Given the description of an element on the screen output the (x, y) to click on. 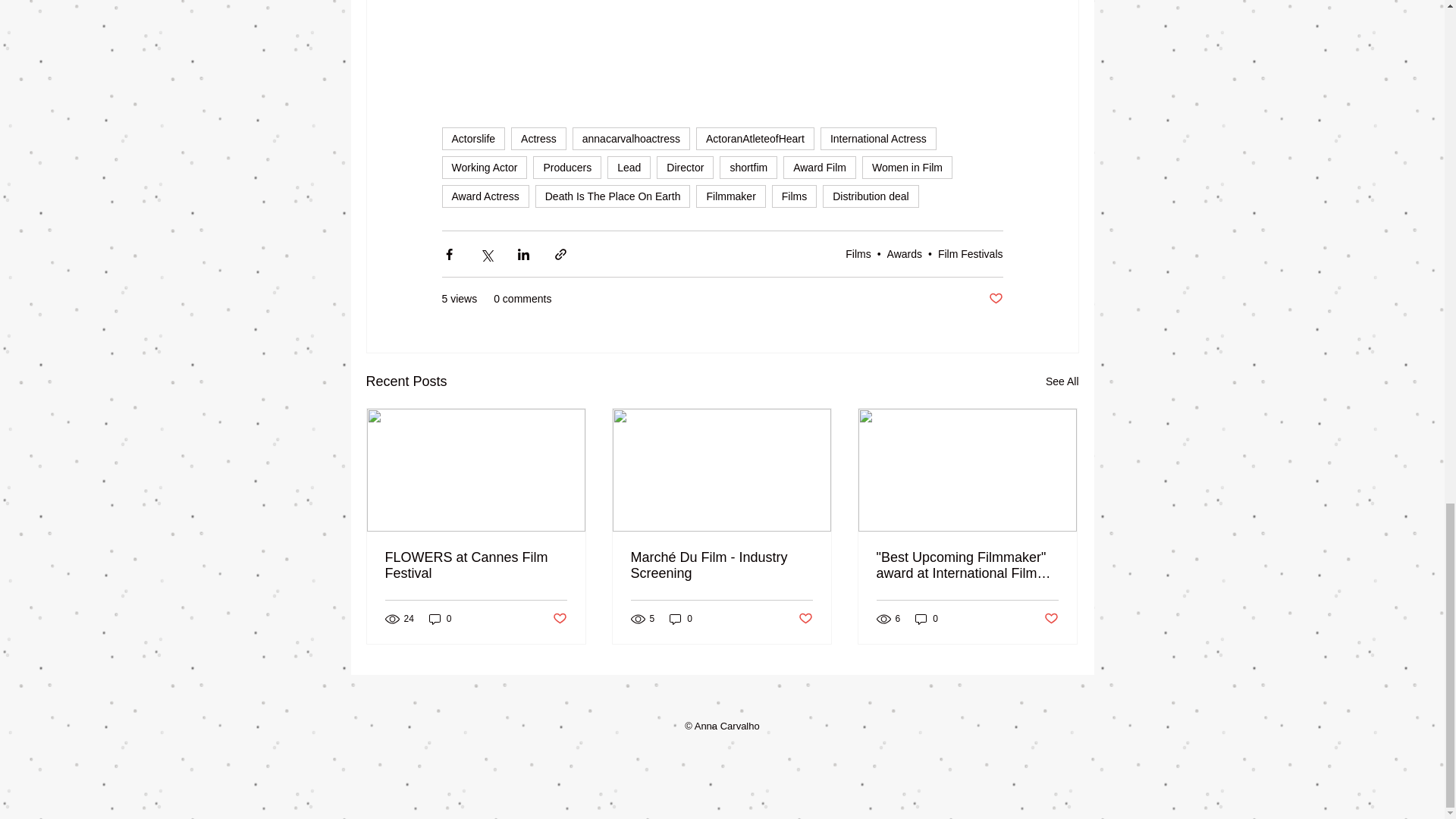
Facebook Like (722, 698)
Twitter Tweet (755, 698)
